Given the description of an element on the screen output the (x, y) to click on. 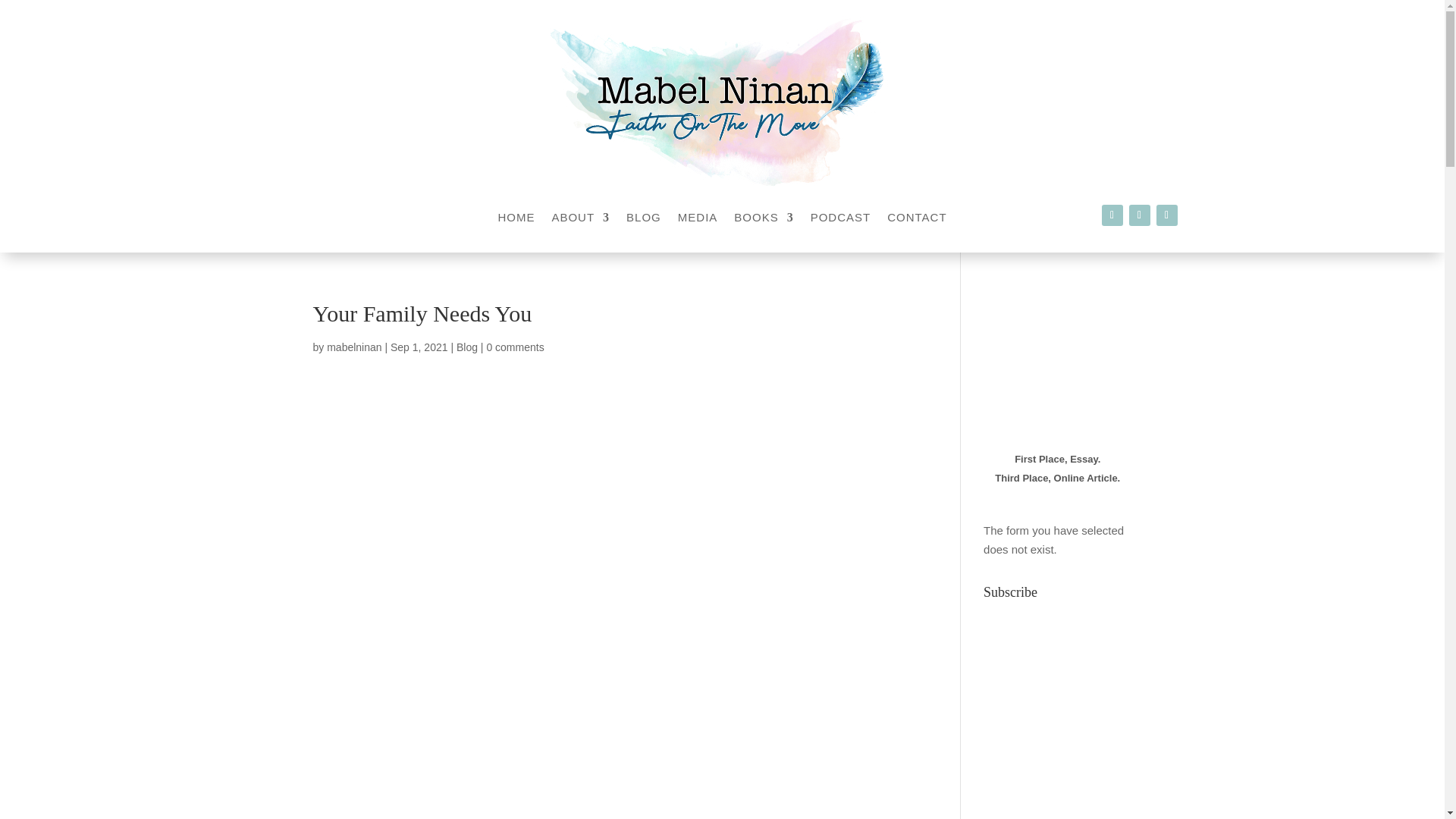
Posts by mabelninan (353, 346)
PODCAST (840, 220)
CONTACT (916, 220)
mabelninan (353, 346)
Follow on Youtube (1166, 215)
ABOUT (580, 220)
Mabel-Ninan-logo final (721, 102)
BOOKS (763, 220)
MEDIA (697, 220)
Blog (467, 346)
